Given the description of an element on the screen output the (x, y) to click on. 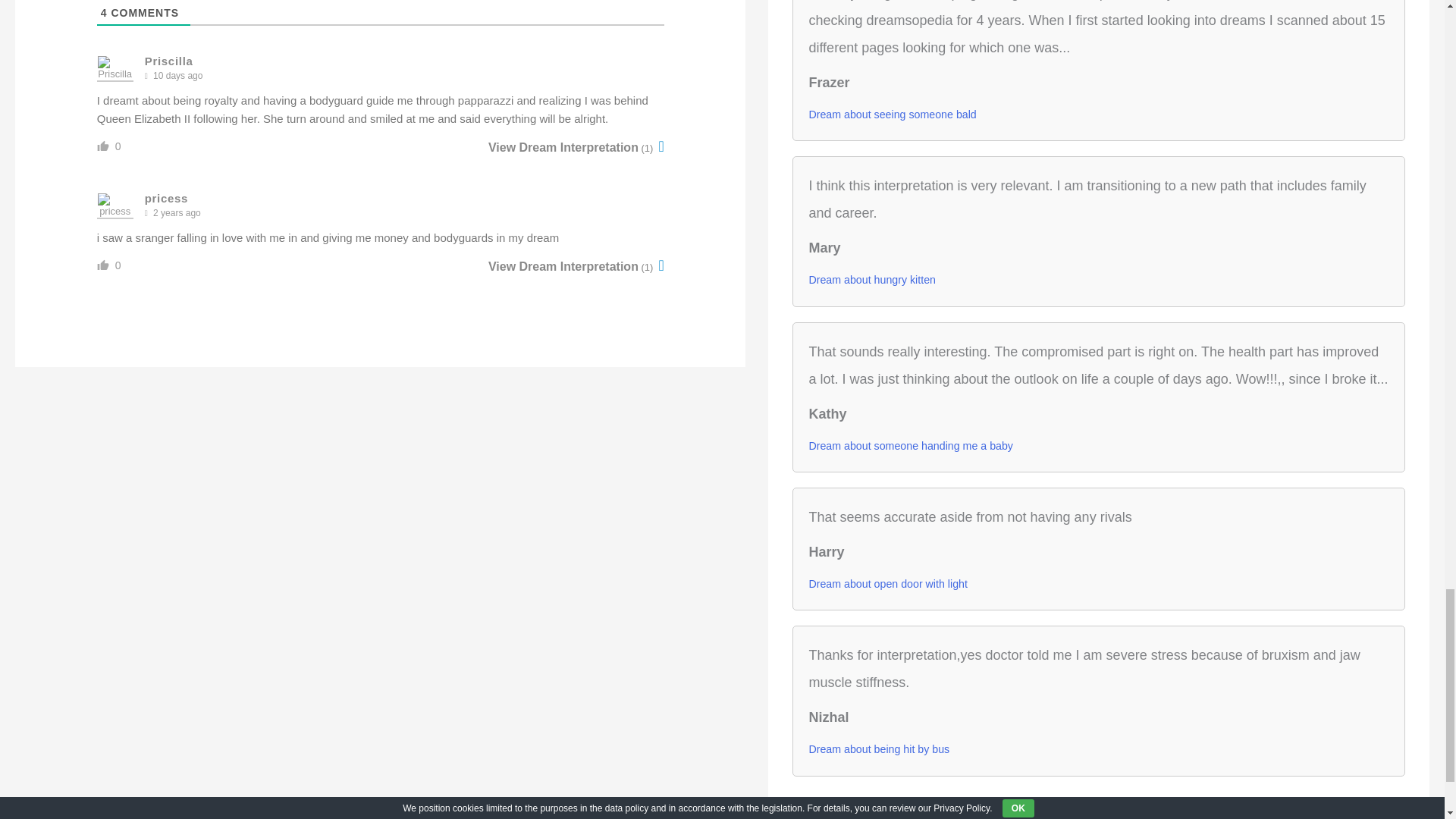
December 30, 2021 8:38 pm (176, 213)
August 6, 2024 5:00 pm (177, 75)
0 (118, 146)
0 (118, 265)
